Given the description of an element on the screen output the (x, y) to click on. 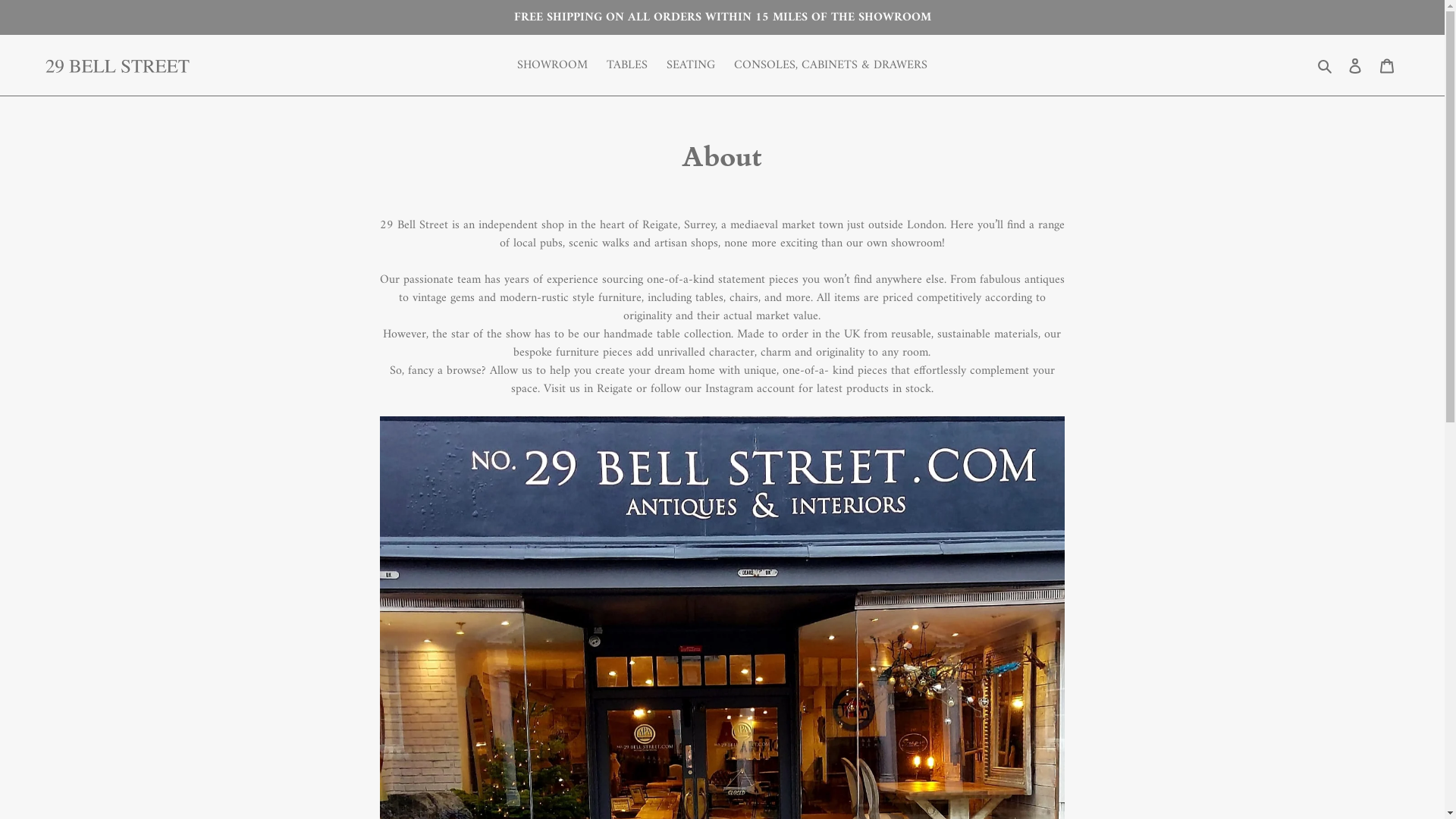
SHOWROOM Element type: text (552, 64)
FREE SHIPPING ON ALL ORDERS WITHIN 15 MILES OF THE SHOWROOM Element type: text (722, 17)
CONSOLES, CABINETS & DRAWERS Element type: text (830, 64)
Log in Element type: text (1355, 64)
Search Element type: text (1325, 65)
SEATING Element type: text (690, 64)
Cart Element type: text (1386, 64)
TABLES Element type: text (627, 64)
